Given the description of an element on the screen output the (x, y) to click on. 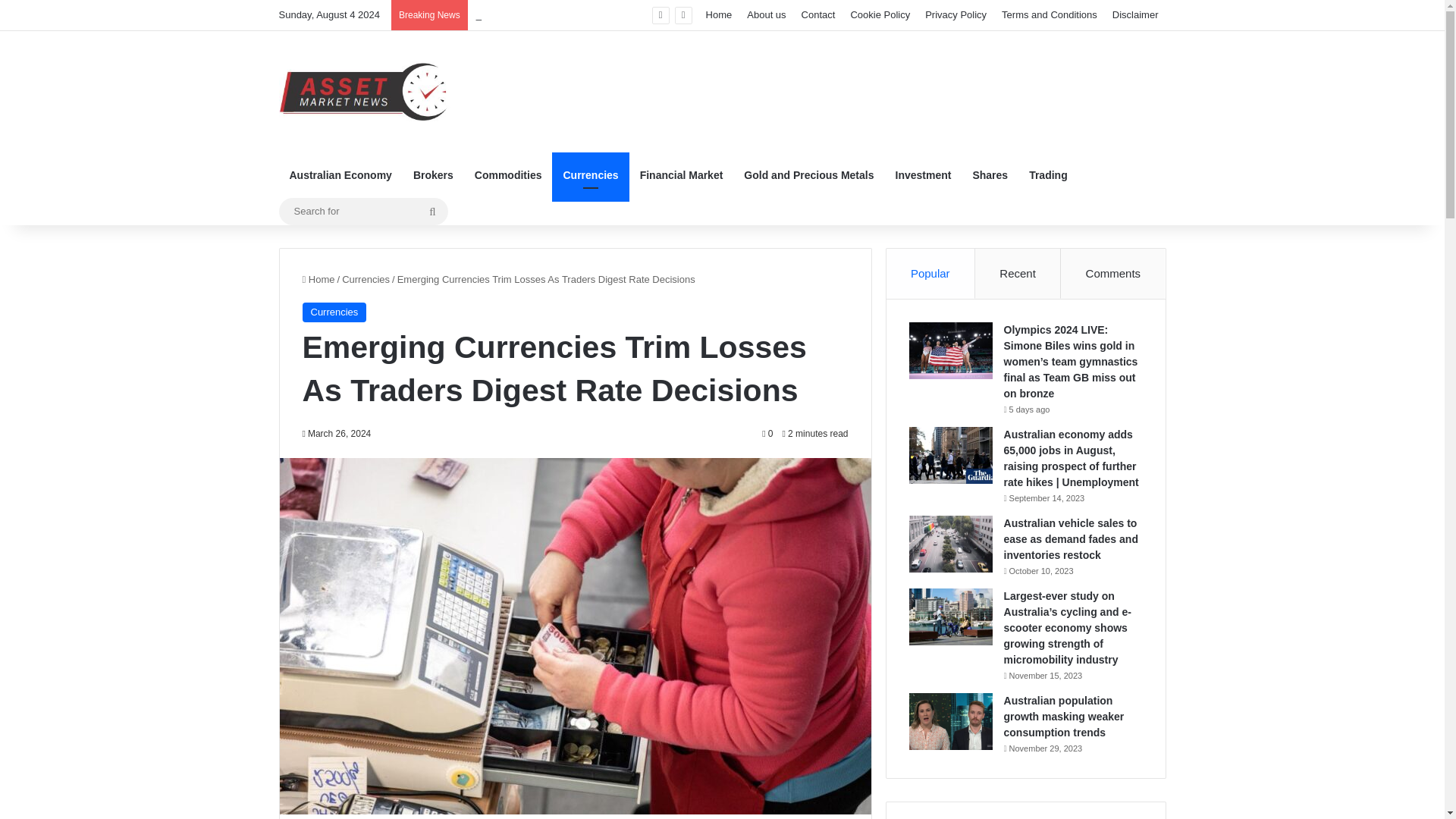
Privacy Policy (955, 15)
Cookie Policy (880, 15)
Financial Market (680, 175)
Home (317, 279)
Contact (818, 15)
Brokers (433, 175)
About us (766, 15)
Australian Economy (341, 175)
Gold and Precious Metals (808, 175)
Home (718, 15)
Investment (921, 175)
Currencies (589, 175)
Currencies (366, 279)
Trading (1047, 175)
Shares (988, 175)
